Given the description of an element on the screen output the (x, y) to click on. 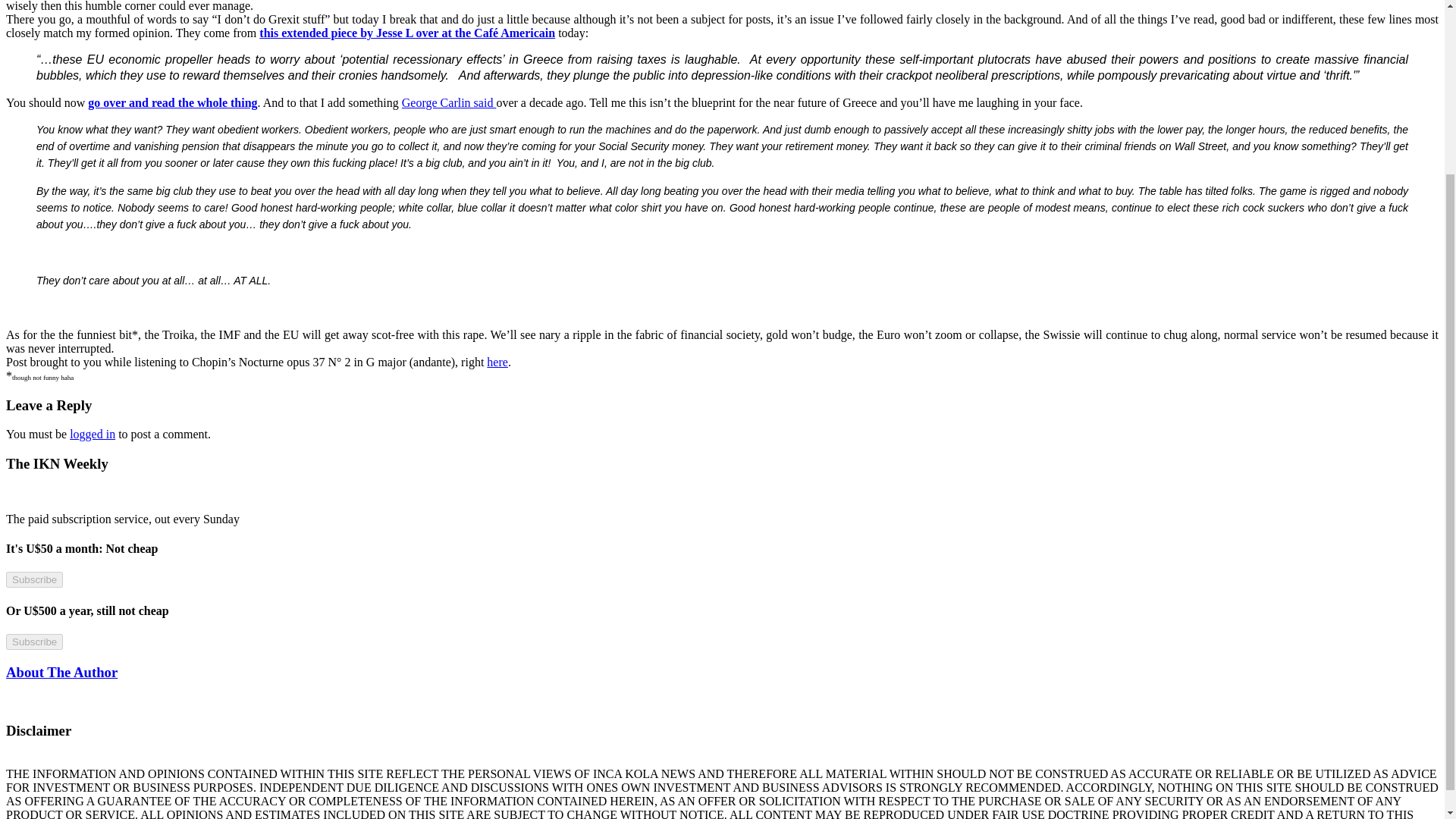
logged in (92, 433)
Subscribe (33, 641)
here (497, 361)
Subscribe (33, 579)
go over and read the whole thing (172, 102)
George Carlin said (448, 102)
